Given the description of an element on the screen output the (x, y) to click on. 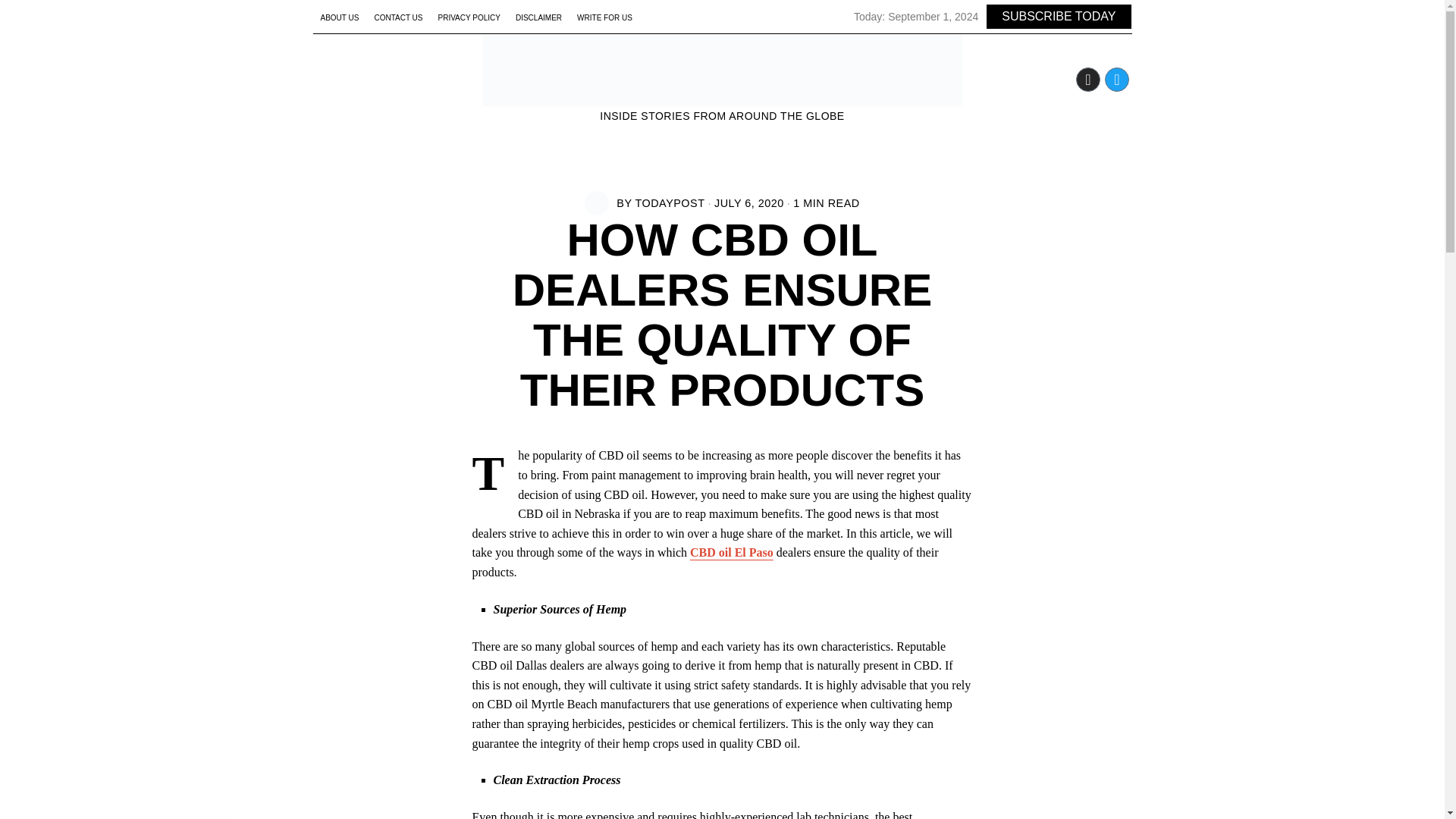
ABOUT US (339, 17)
WRITE FOR US (604, 17)
SUBSCRIBE TODAY (1058, 16)
CONTACT US (397, 17)
TODAYPOST (669, 203)
DISCLAIMER (538, 17)
PRIVACY POLICY (469, 17)
CBD oil El Paso (731, 552)
